Given the description of an element on the screen output the (x, y) to click on. 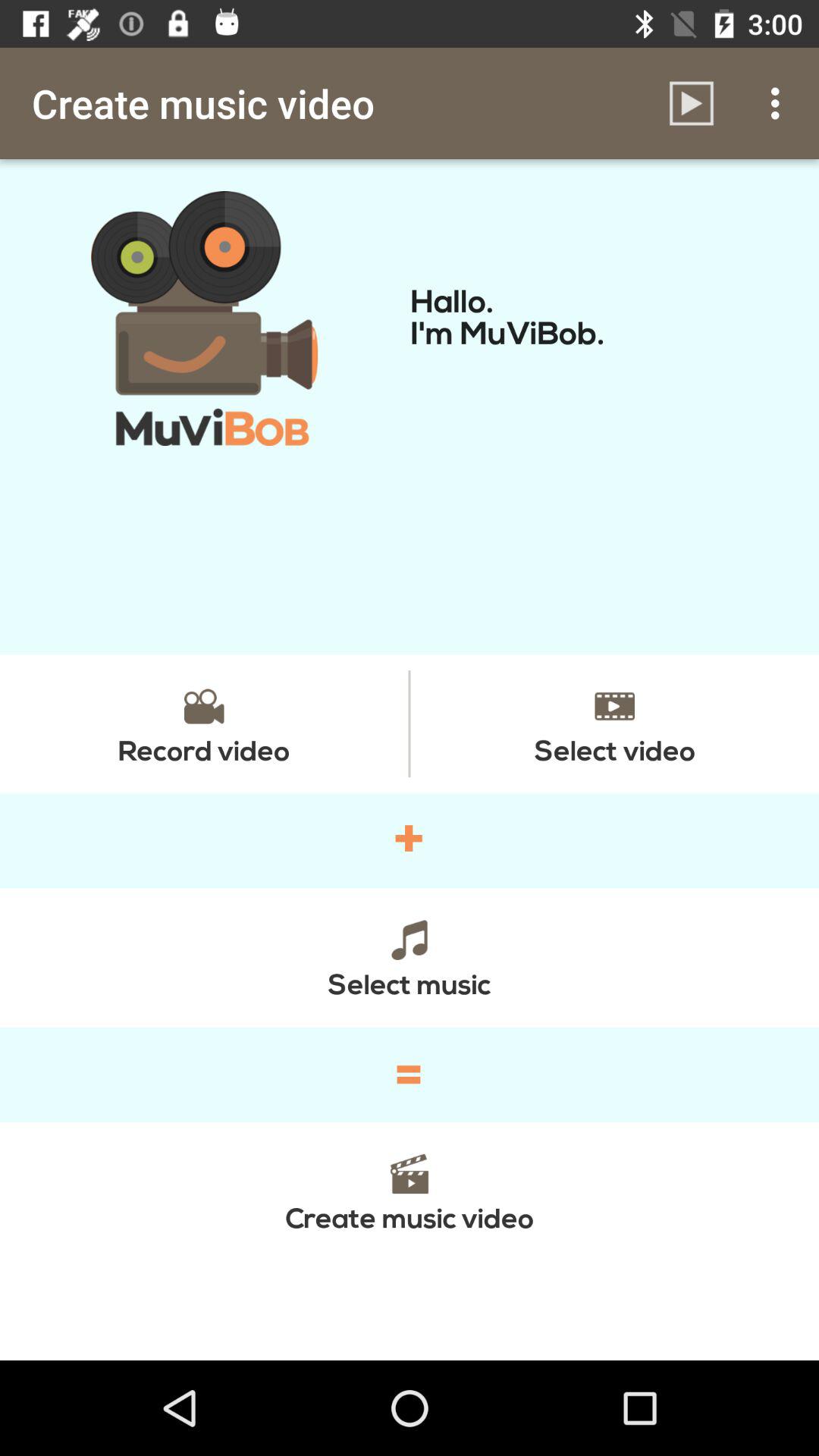
tap app next to create music video icon (691, 103)
